Given the description of an element on the screen output the (x, y) to click on. 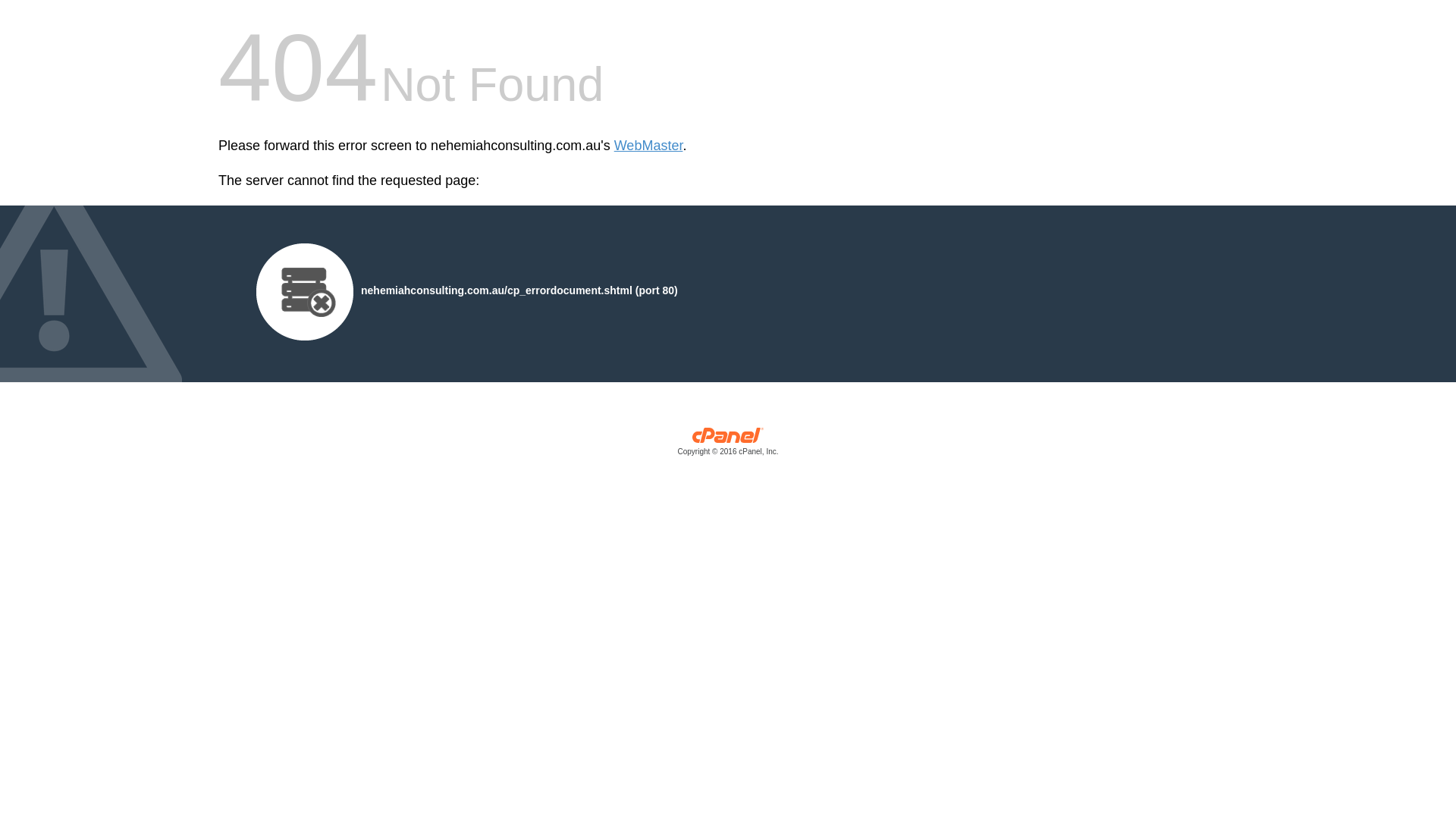
WebMaster Element type: text (648, 145)
